Given the description of an element on the screen output the (x, y) to click on. 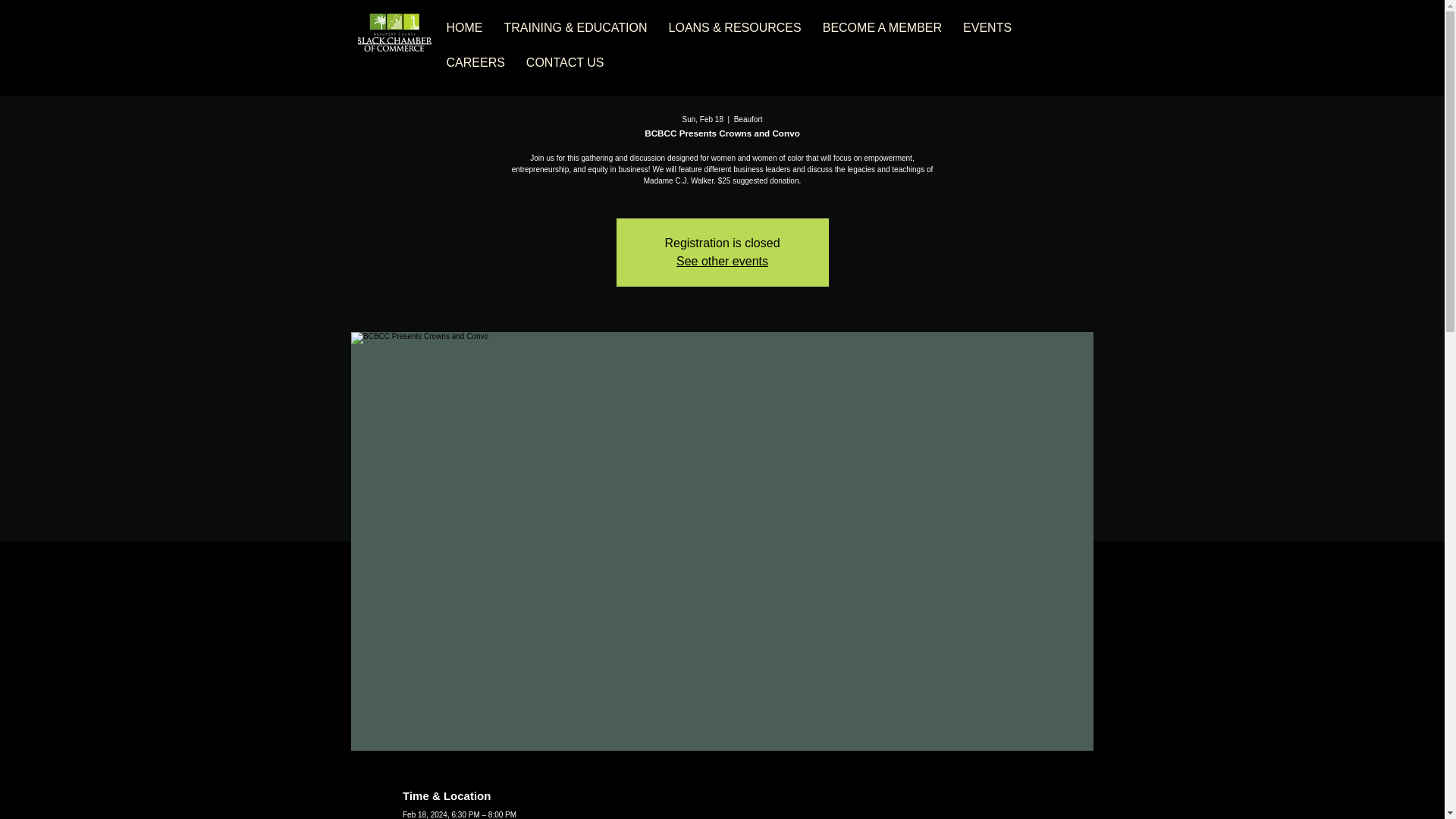
HOME (463, 27)
See other events (722, 260)
bcbcclogo.png (394, 32)
CAREERS (475, 62)
BECOME A MEMBER (882, 27)
CONTACT US (564, 62)
EVENTS (987, 27)
